Given the description of an element on the screen output the (x, y) to click on. 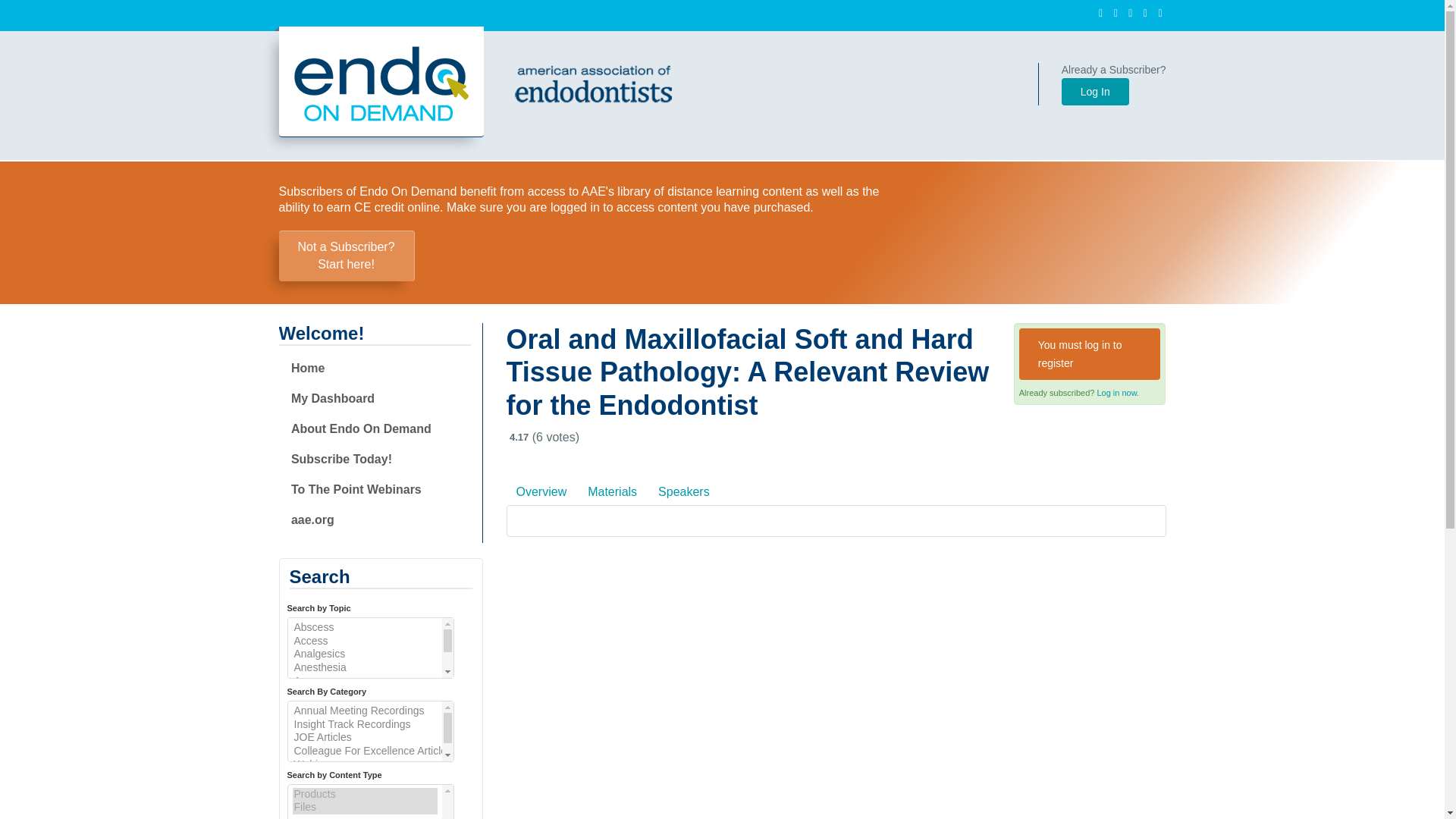
You must log in to register (1089, 354)
Materials (612, 491)
-- (369, 647)
Overview (345, 255)
-- (541, 491)
Select type (369, 731)
Log In (369, 801)
Log in now. (1095, 91)
Speakers (1117, 392)
